Given the description of an element on the screen output the (x, y) to click on. 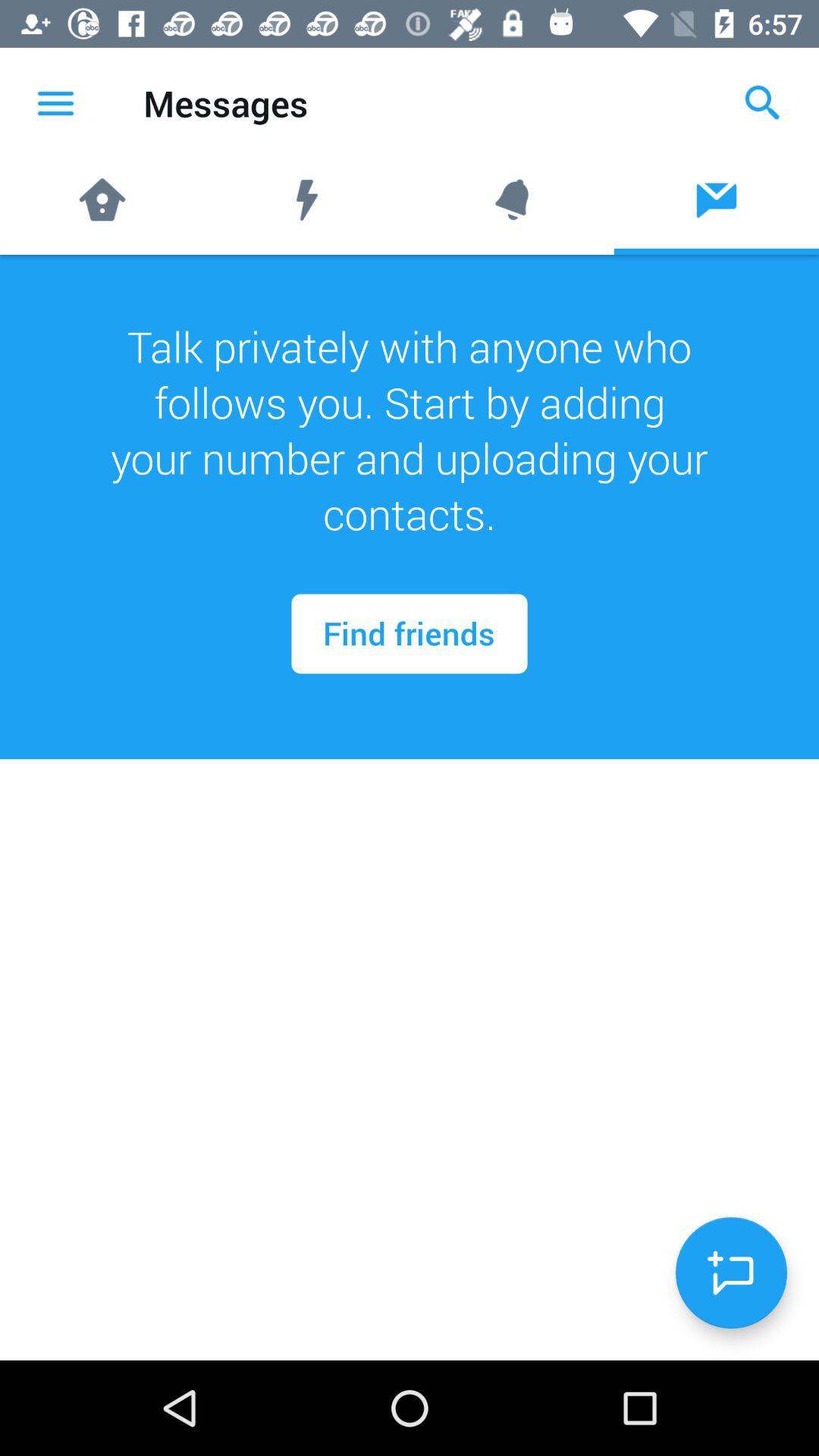
turn on the find friends icon (409, 633)
